Given the description of an element on the screen output the (x, y) to click on. 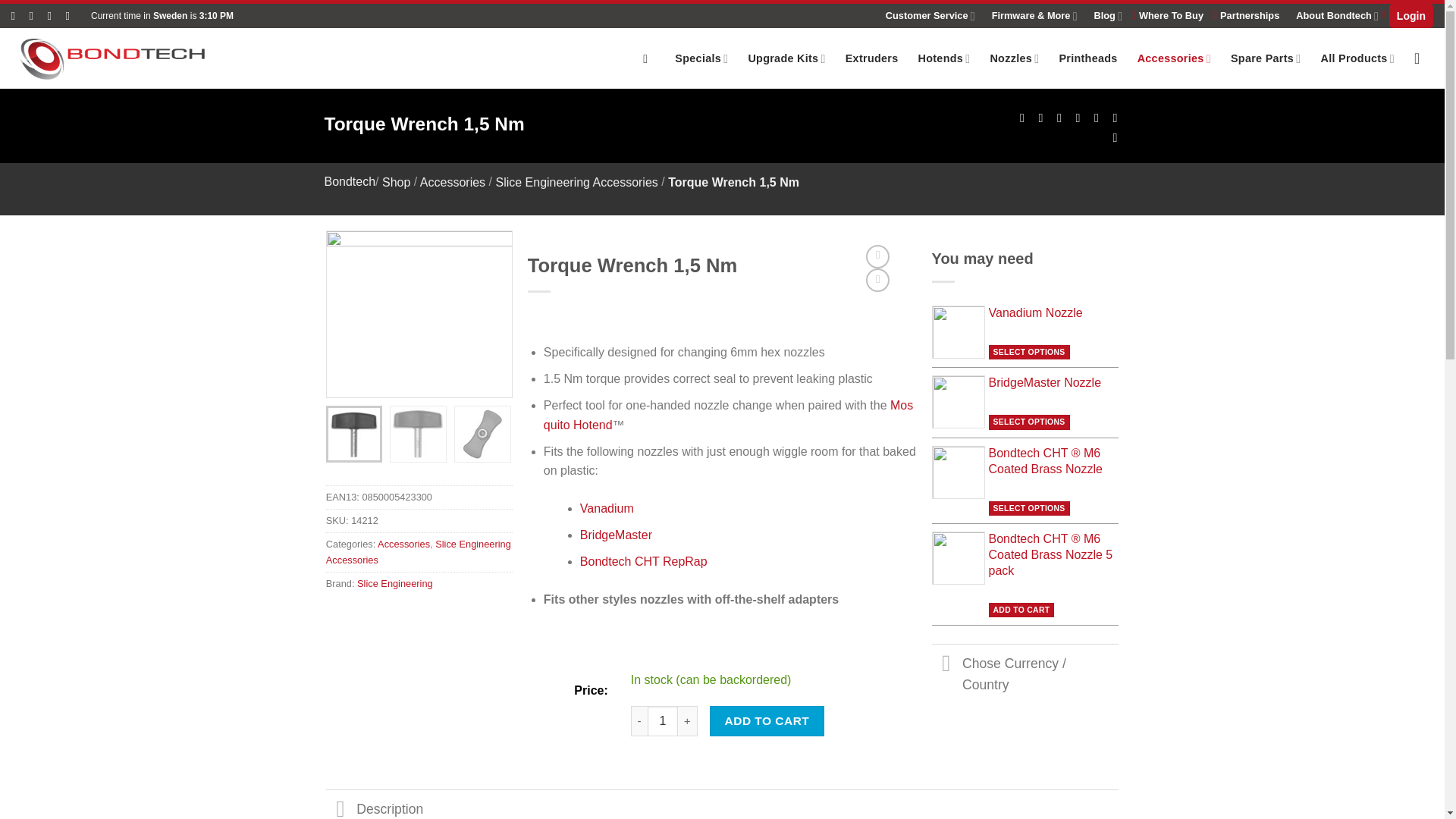
Customer Service (930, 15)
Login (1410, 15)
Blog (1107, 15)
Share on X (1036, 117)
Bondtech - Reliability and Performance (124, 58)
Partnerships (1249, 15)
1 (662, 720)
Where To Buy (1171, 15)
Specials (701, 58)
About Bondtech (1336, 15)
